Given the description of an element on the screen output the (x, y) to click on. 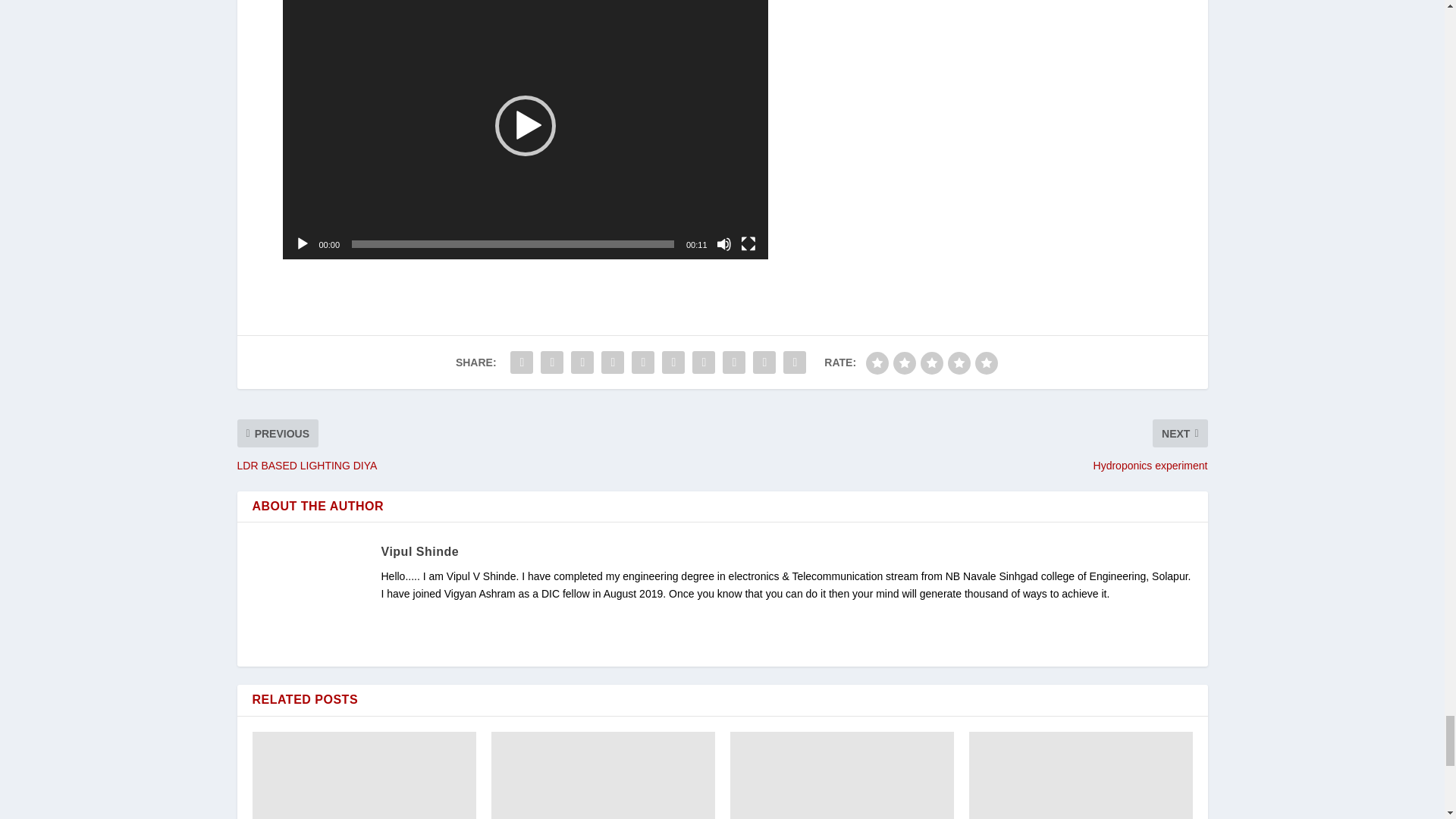
Share "Automatic water tap controller" via LinkedIn (673, 362)
Share "Automatic water tap controller" via Stumbleupon (734, 362)
Share "Automatic water tap controller" via Facebook (521, 362)
Share "Automatic water tap controller" via Tumblr (611, 362)
Share "Automatic water tap controller" via Pinterest (642, 362)
Share "Automatic water tap controller" via Buffer (703, 362)
Play (301, 243)
Fullscreen (747, 243)
Mute (723, 243)
Share "Automatic water tap controller" via Twitter (552, 362)
